Given the description of an element on the screen output the (x, y) to click on. 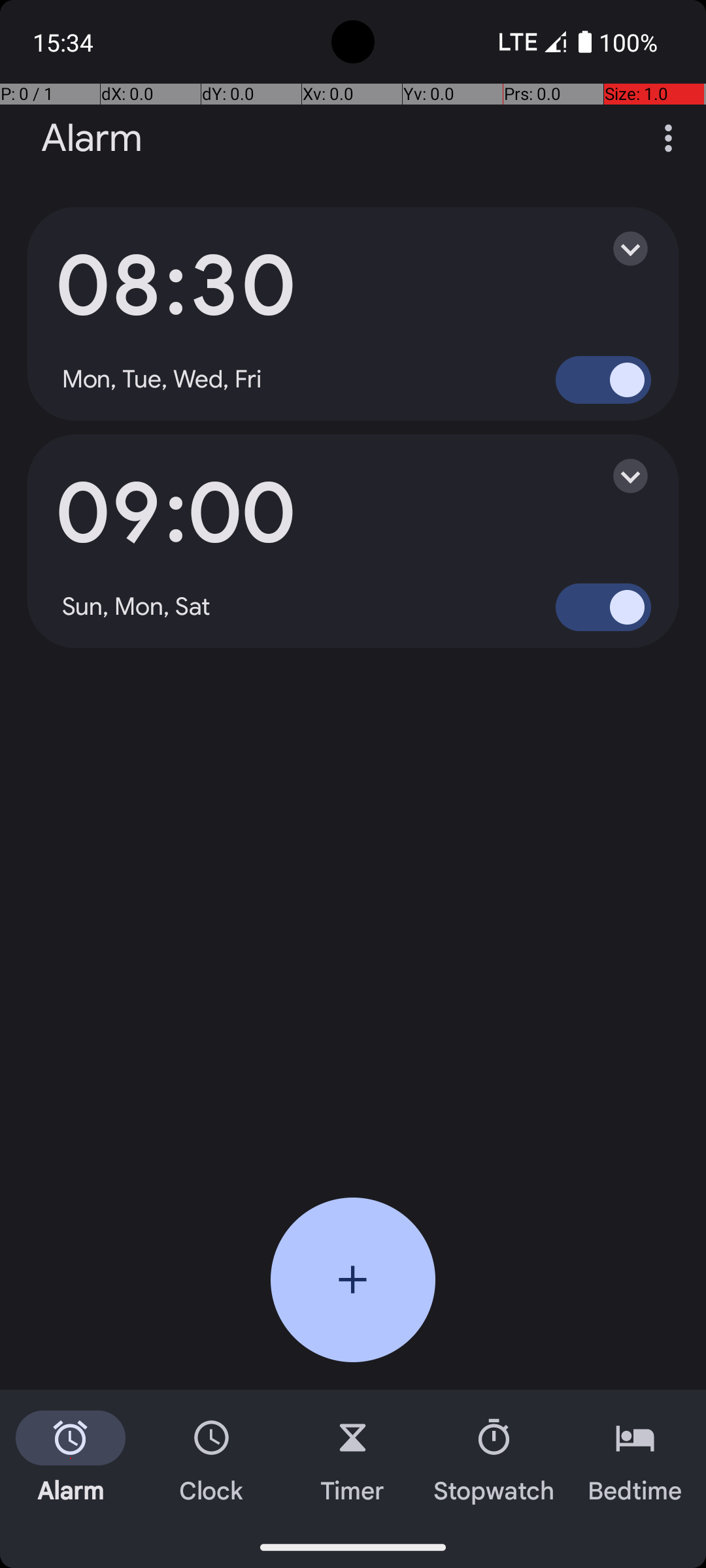
Mon, Tue, Wed, Fri Element type: android.widget.TextView (161, 379)
Sun, Mon, Sat Element type: android.widget.TextView (136, 606)
